Given the description of an element on the screen output the (x, y) to click on. 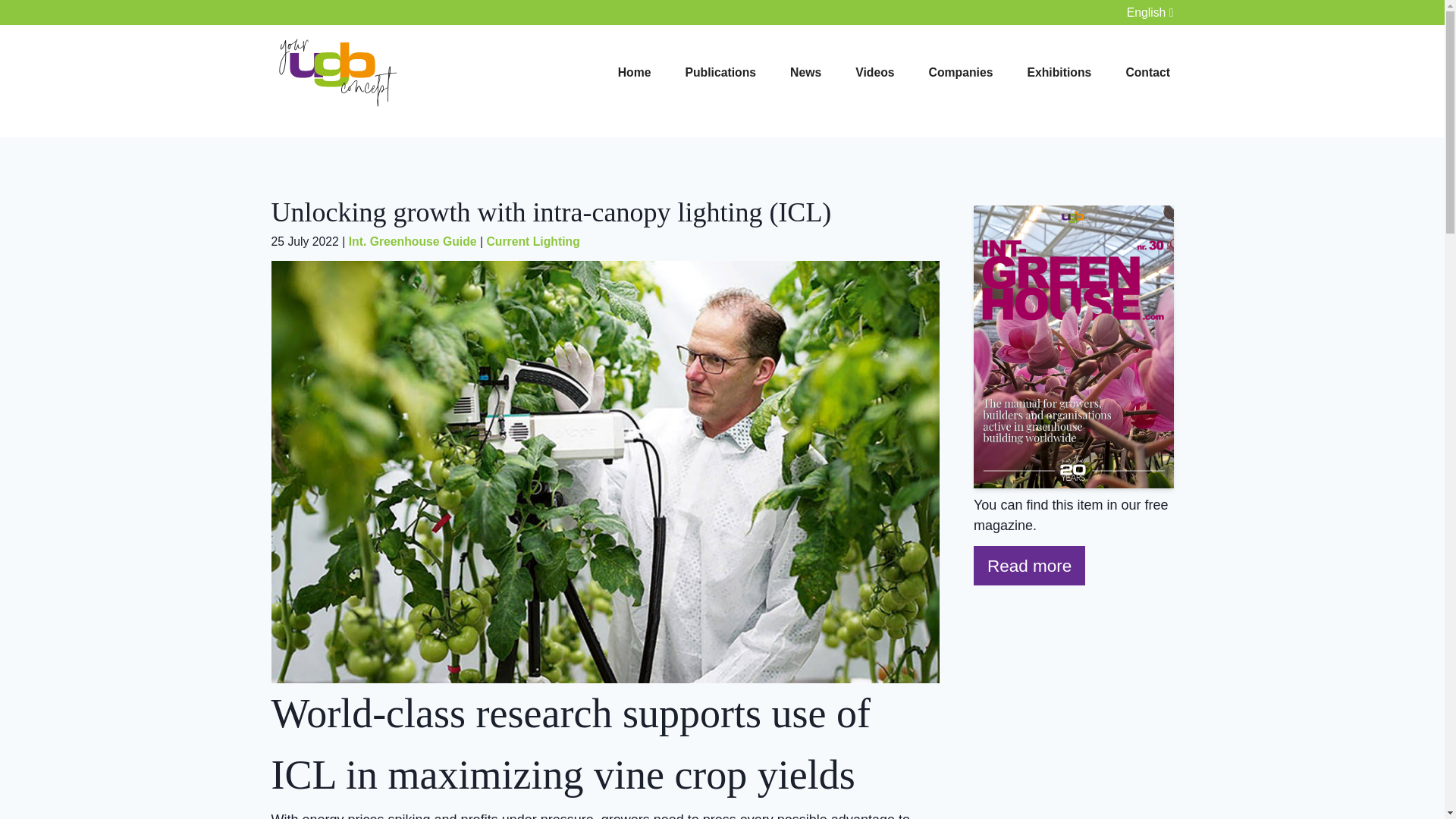
News (805, 72)
Home (634, 72)
Companies (960, 72)
Current Lighting (532, 241)
Read more (1026, 565)
Publications (721, 72)
Int. Greenhouse Guide (413, 241)
Exhibitions (1059, 72)
Contact (1147, 72)
Videos (874, 72)
